Given the description of an element on the screen output the (x, y) to click on. 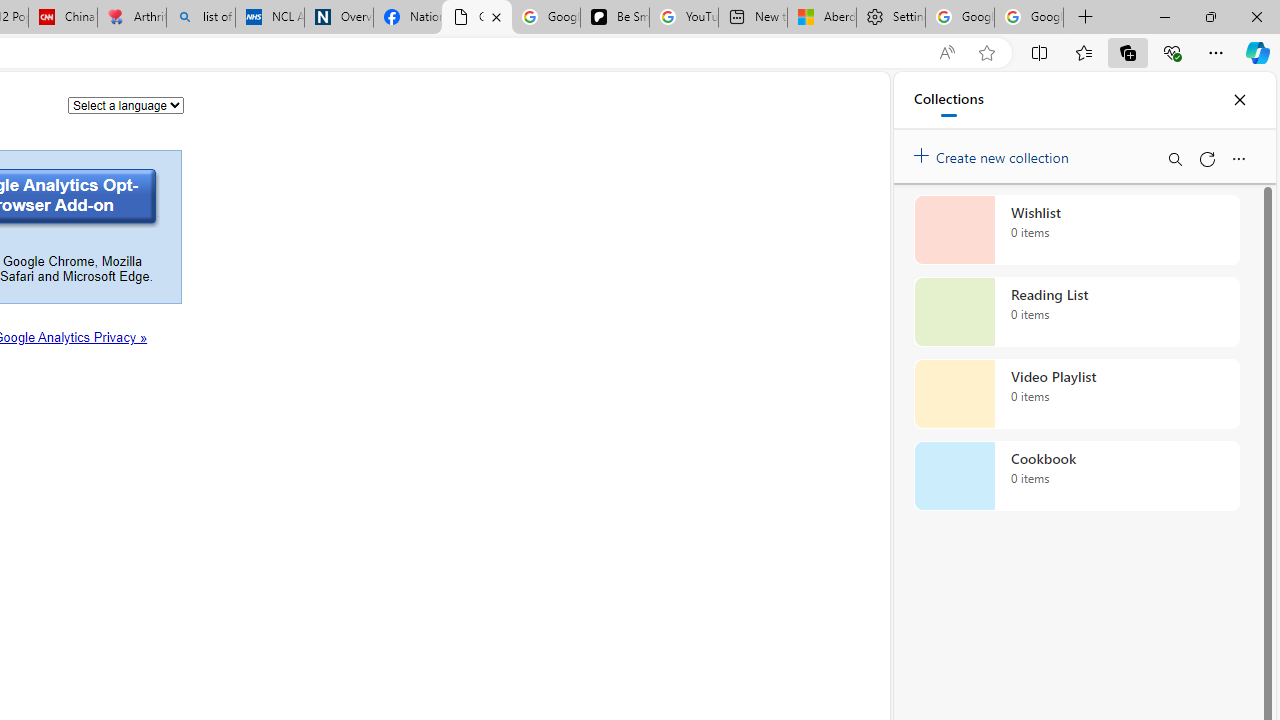
Aberdeen, Hong Kong SAR hourly forecast | Microsoft Weather (822, 17)
Arthritis: Ask Health Professionals (132, 17)
More options menu (1238, 158)
Video Playlist collection, 0 items (1076, 394)
Google Analytics Opt-out Browser Add-on Download Page (476, 17)
NCL Adult Asthma Inhaler Choice Guideline (269, 17)
